Given the description of an element on the screen output the (x, y) to click on. 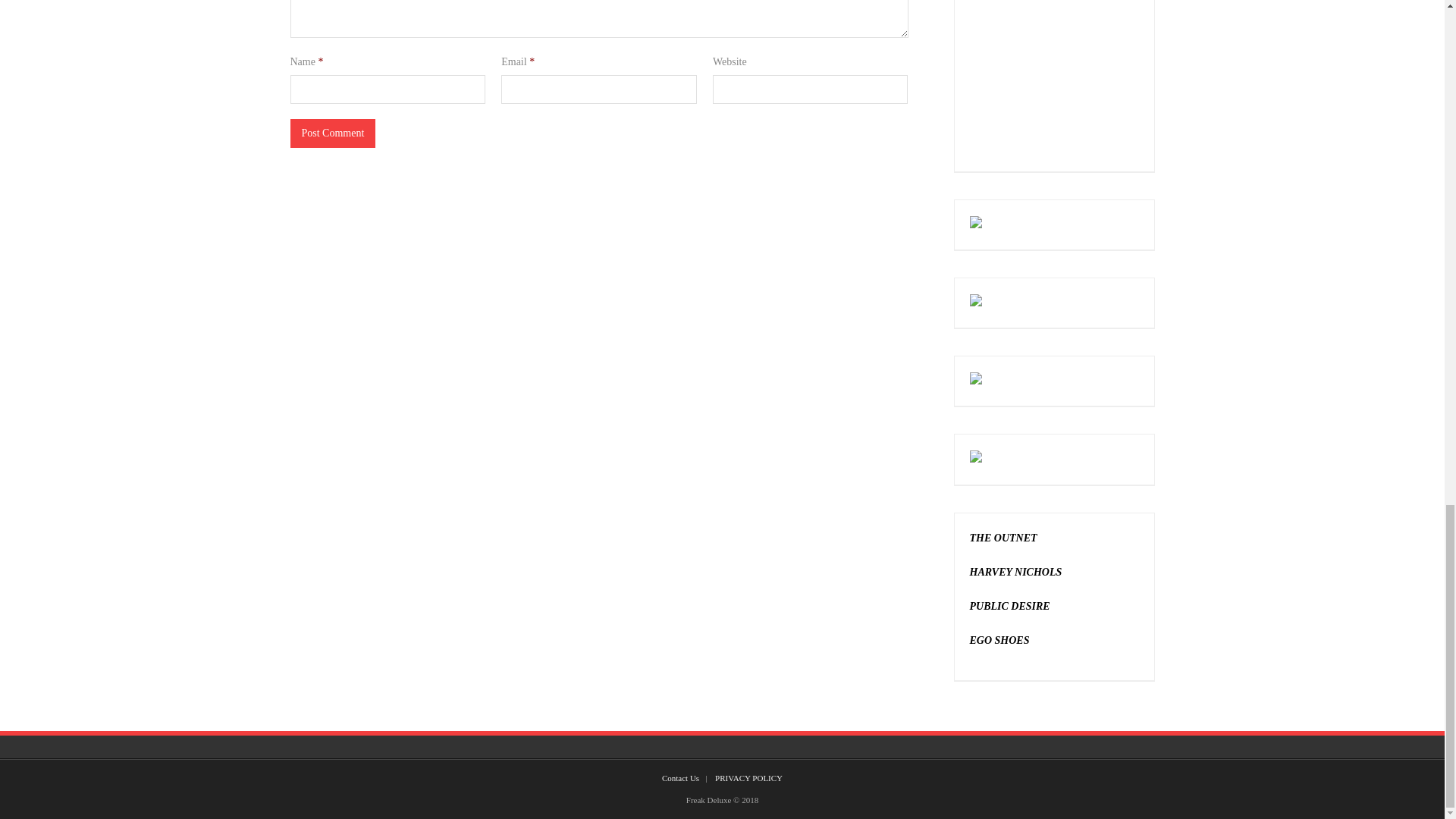
Post Comment (332, 133)
